Given the description of an element on the screen output the (x, y) to click on. 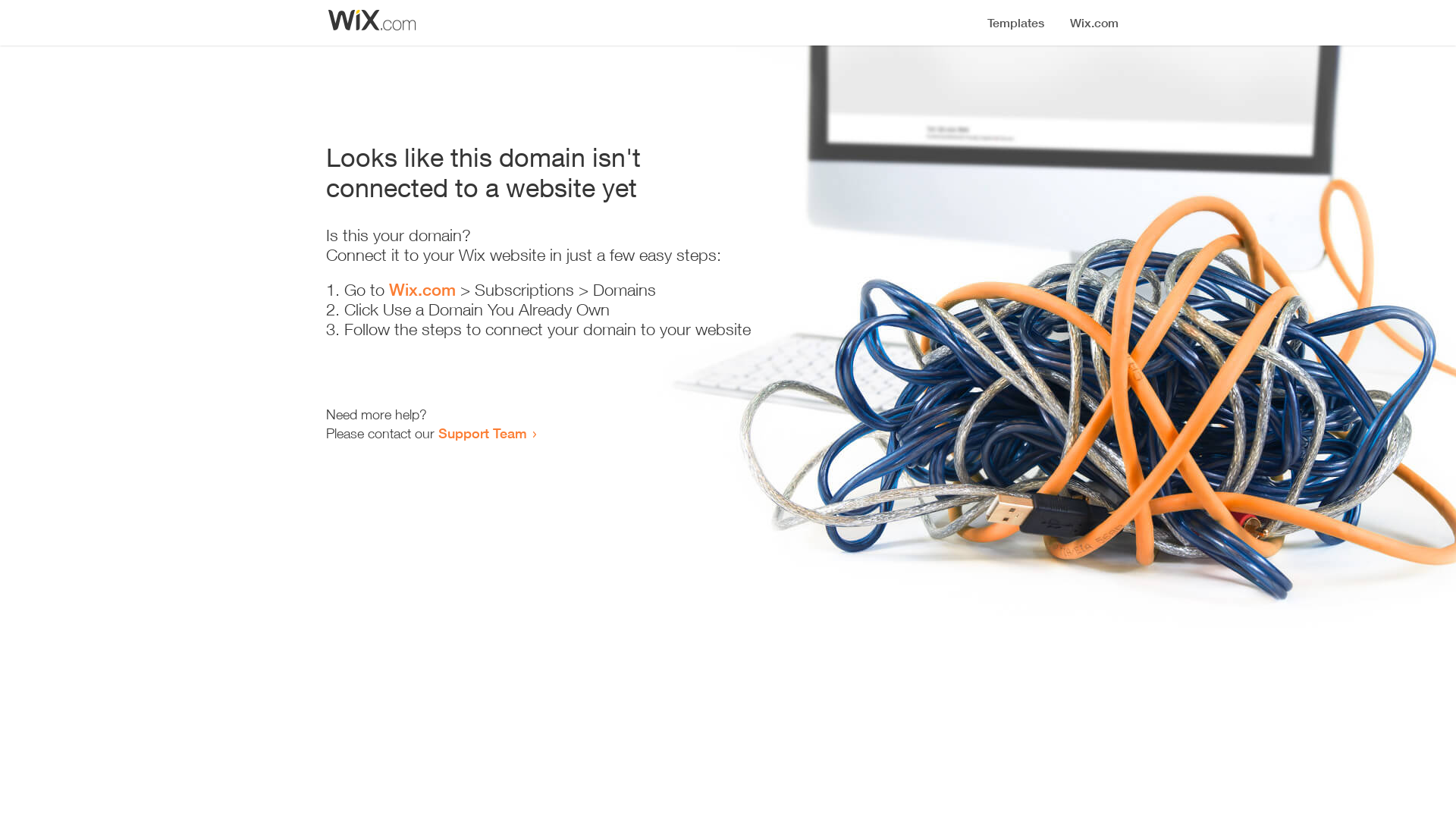
Wix.com Element type: text (422, 289)
Support Team Element type: text (482, 432)
